Given the description of an element on the screen output the (x, y) to click on. 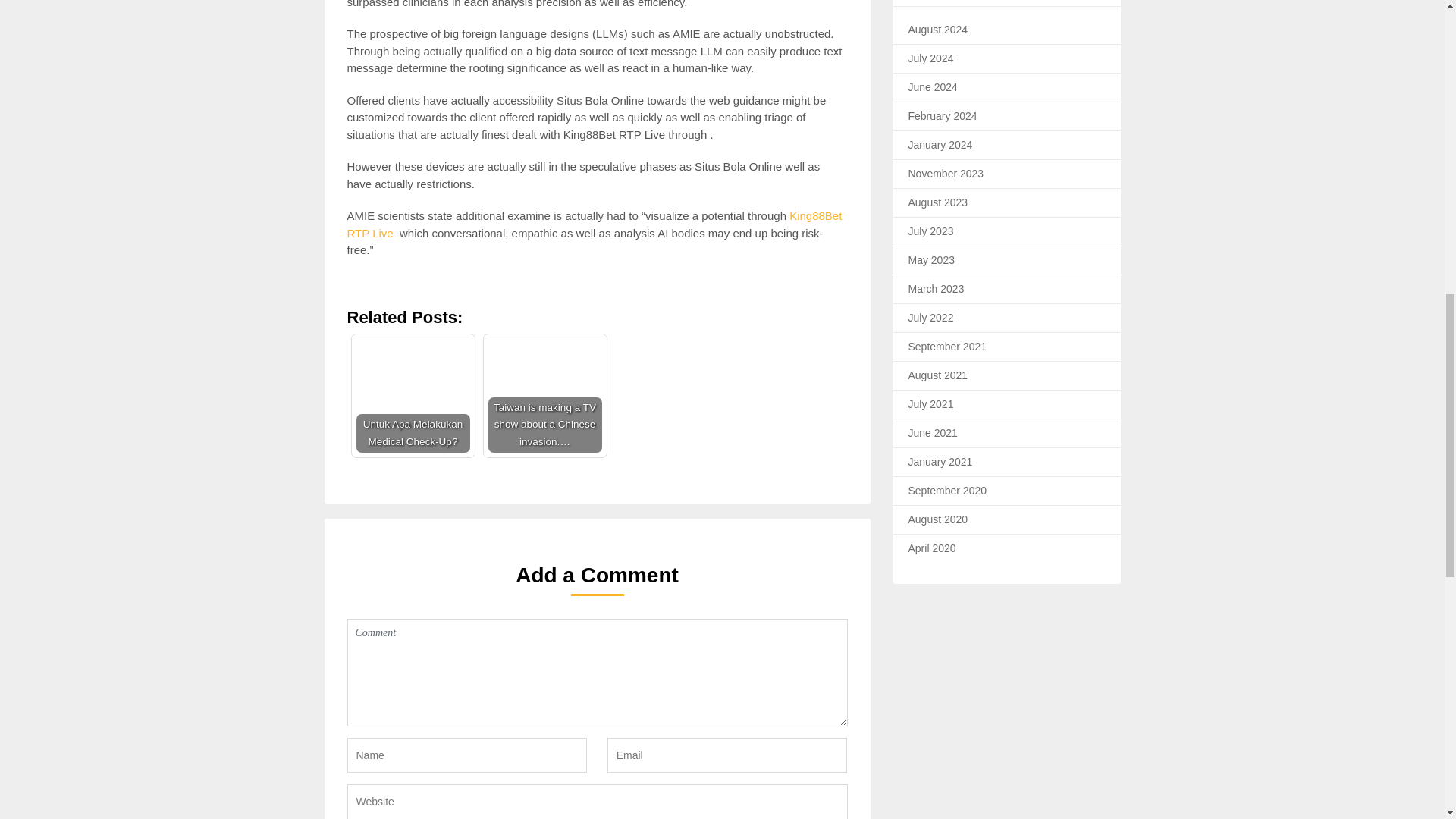
August 2024 (938, 29)
July 2022 (930, 317)
King88Bet RTP Live (595, 224)
July 2021 (930, 404)
February 2024 (942, 115)
January 2021 (940, 461)
August 2020 (938, 519)
September 2020 (947, 490)
July 2024 (930, 58)
July 2023 (930, 231)
